Given the description of an element on the screen output the (x, y) to click on. 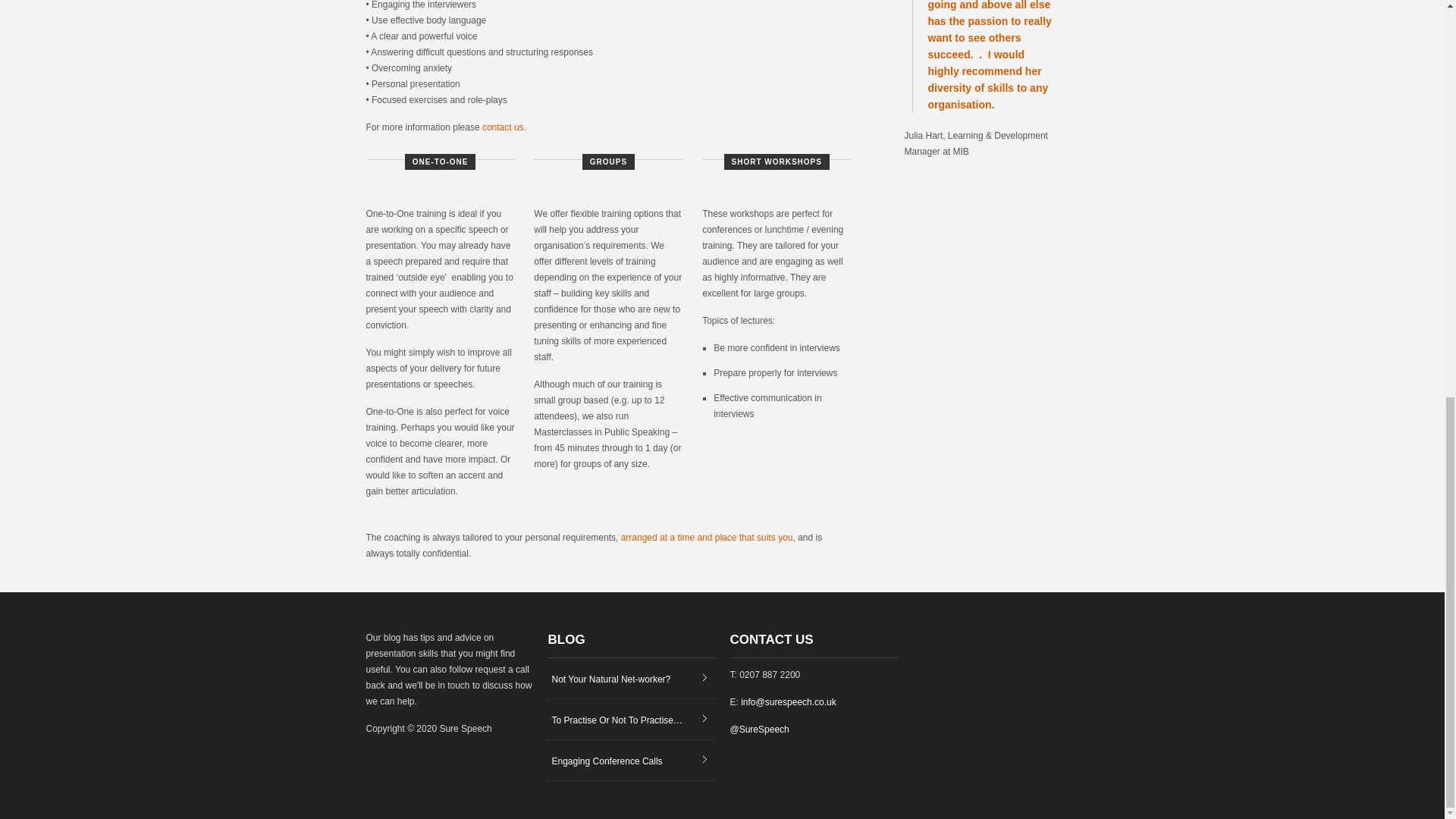
arranged at a time and place that suits you (707, 537)
contact us (502, 127)
Enquiry (707, 537)
